Given the description of an element on the screen output the (x, y) to click on. 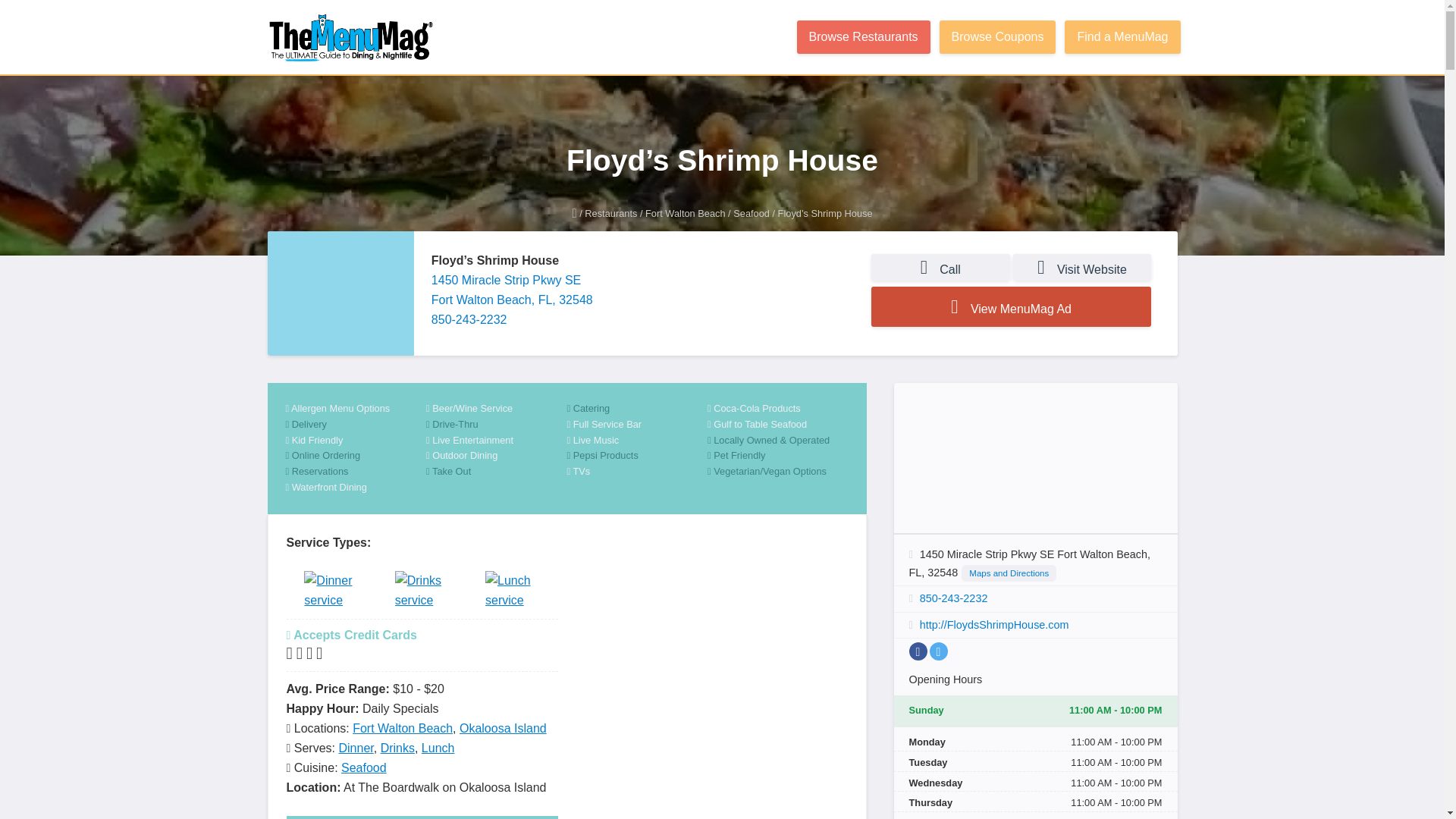
serves Drinks (422, 592)
Gulf to Table Seafood (777, 424)
Visit Website (1082, 266)
Delivery (355, 424)
Coca-Cola Products (777, 408)
850-243-2232 (468, 318)
Browse Restaurants (863, 37)
Browse Coupons (998, 37)
View MenuMag Ad (1010, 306)
Seafood (751, 213)
Kid Friendly (355, 440)
Restaurants (611, 213)
Find a MenuMag (1121, 37)
Catering (637, 408)
Allergen Menu Options (355, 408)
